Given the description of an element on the screen output the (x, y) to click on. 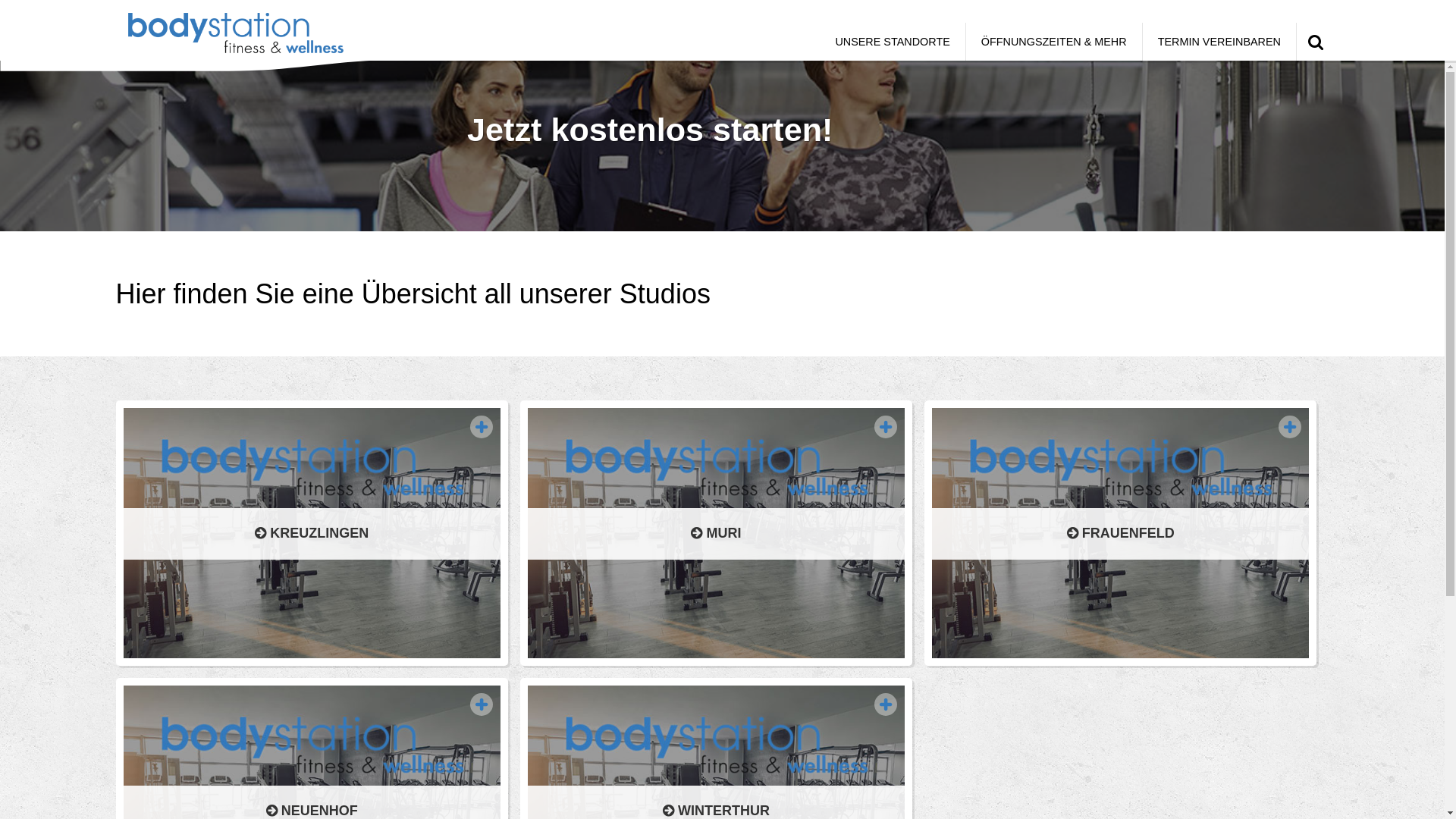
MURI Element type: text (715, 533)
TERMIN VEREINBAREN Element type: text (1218, 41)
FRAUENFELD Element type: text (1120, 533)
KREUZLINGEN Element type: text (310, 533)
UNSERE STANDORTE Element type: text (891, 41)
